Given the description of an element on the screen output the (x, y) to click on. 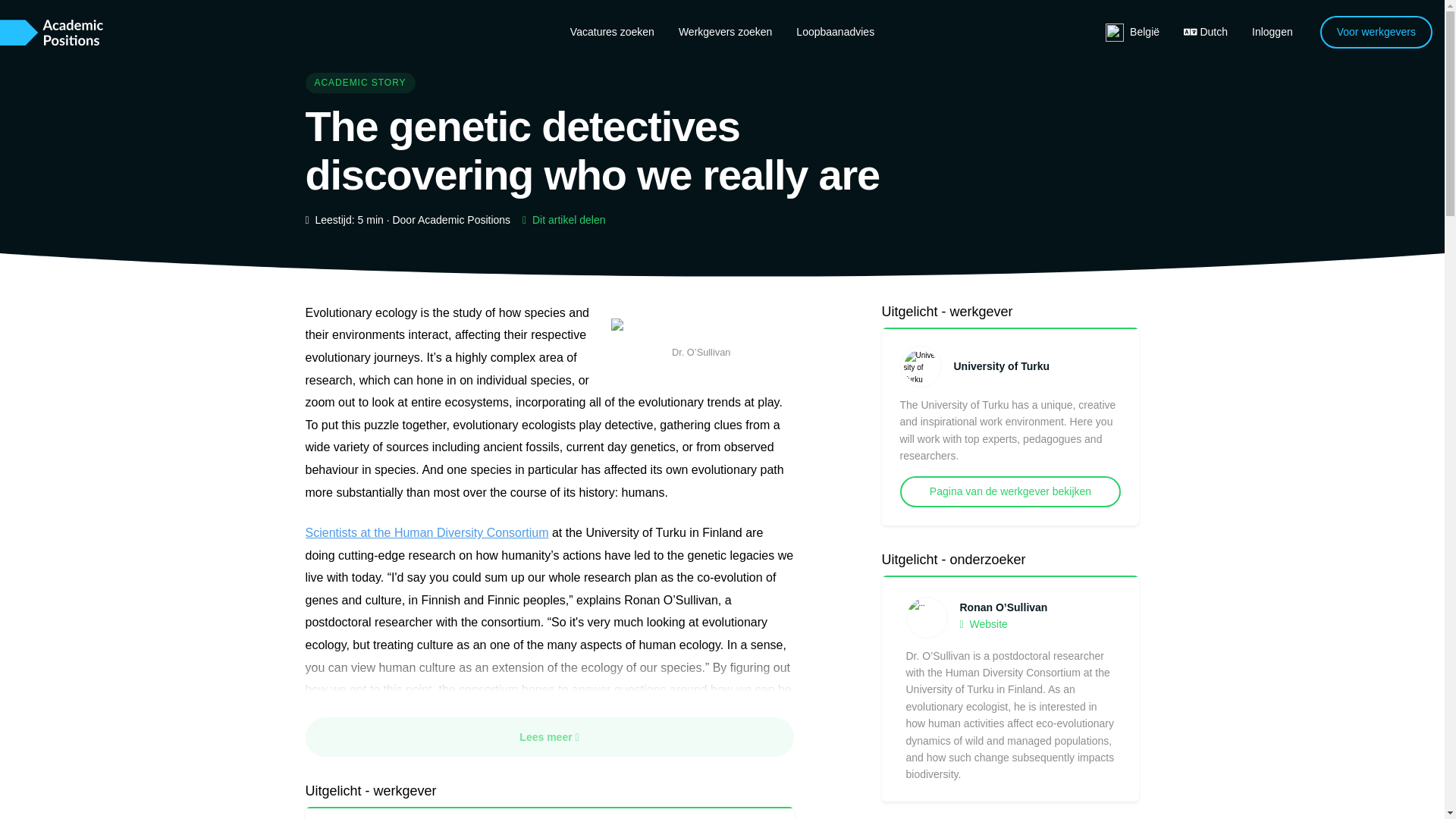
Werkgevers zoeken (725, 31)
Vacatures zoeken (611, 31)
Loopbaanadvies (835, 31)
